Given the description of an element on the screen output the (x, y) to click on. 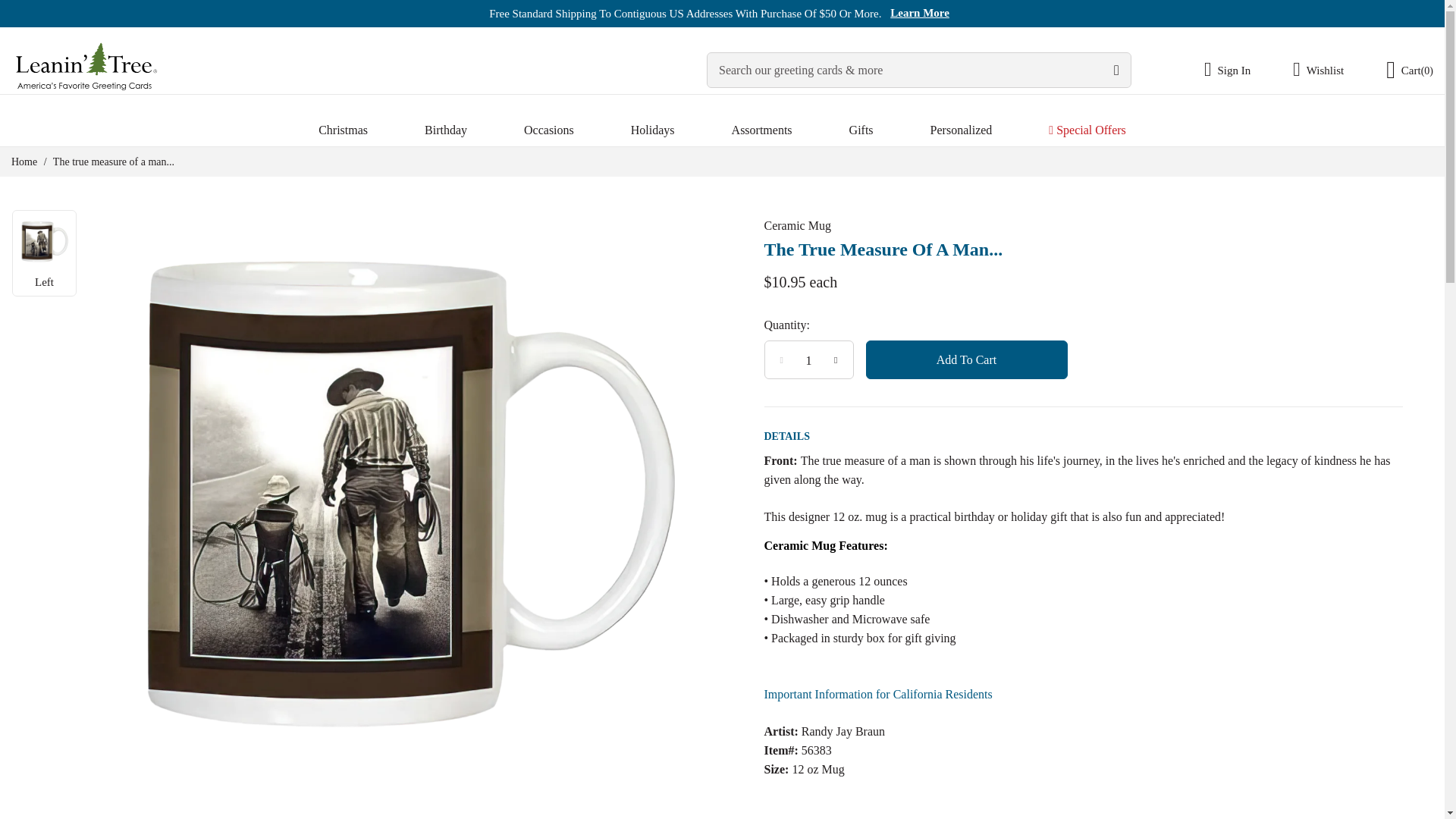
Learn More (919, 13)
Wishlist (1318, 69)
Birthday (446, 129)
account (1237, 69)
cart (1398, 69)
Sign In (1237, 69)
Christmas (343, 129)
Leanin' Tree (87, 68)
Christmas (343, 129)
Wishlist (1318, 69)
